Given the description of an element on the screen output the (x, y) to click on. 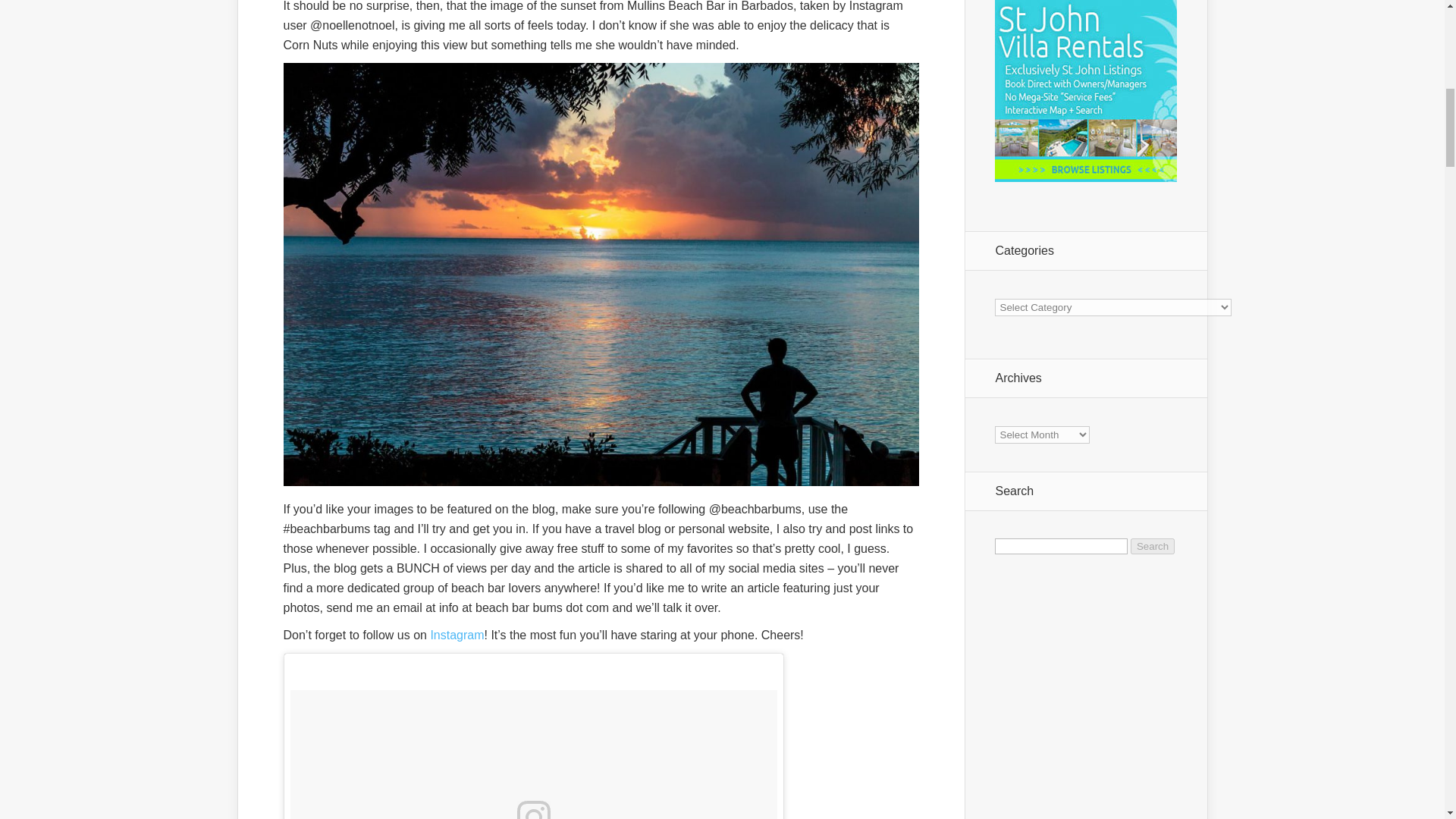
Search (1152, 546)
Instagram (456, 634)
